Given the description of an element on the screen output the (x, y) to click on. 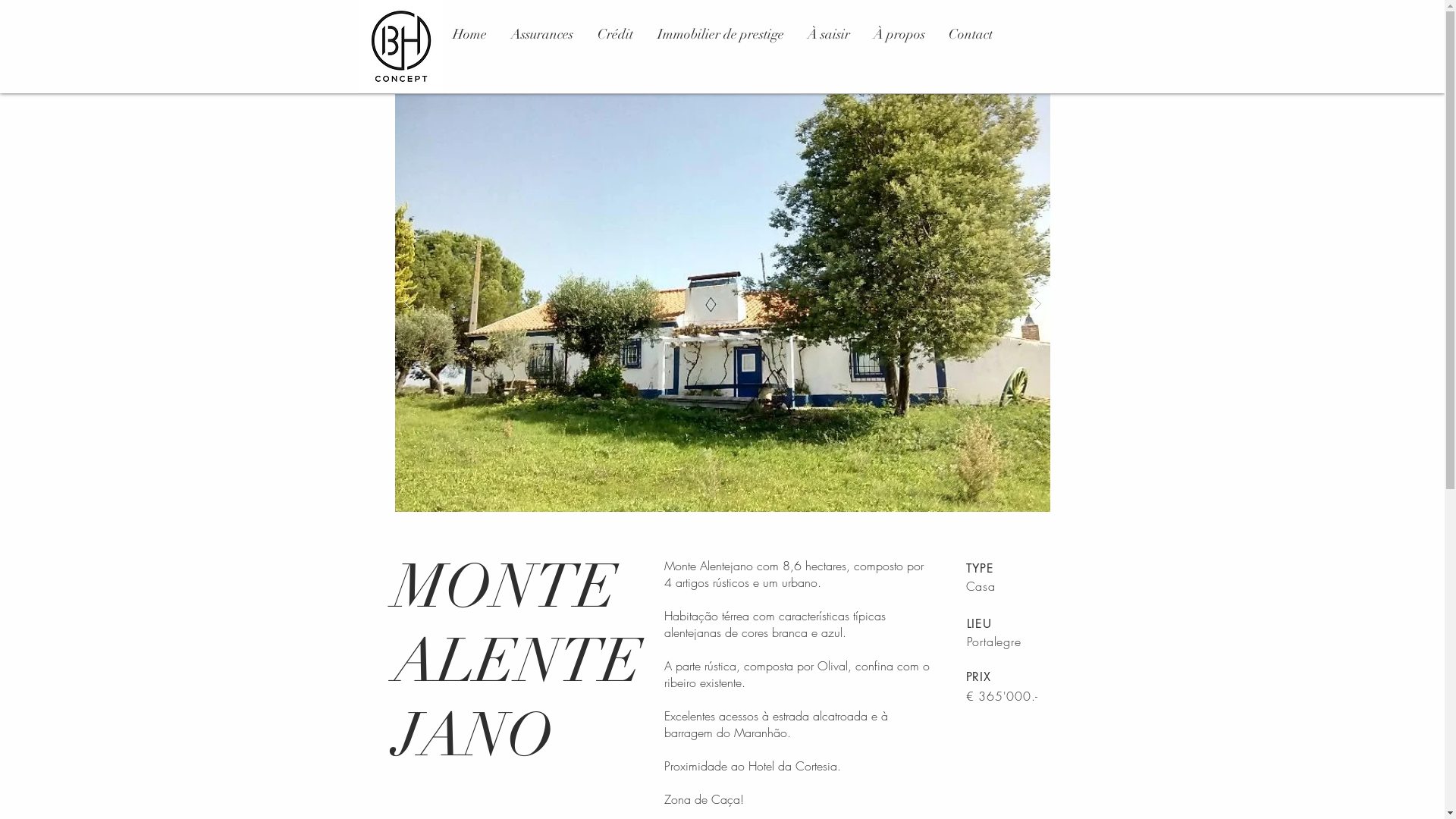
Contact Element type: text (970, 34)
Home Element type: text (469, 34)
Immobilier de prestige Element type: text (720, 34)
Assurances Element type: text (541, 34)
